Given the description of an element on the screen output the (x, y) to click on. 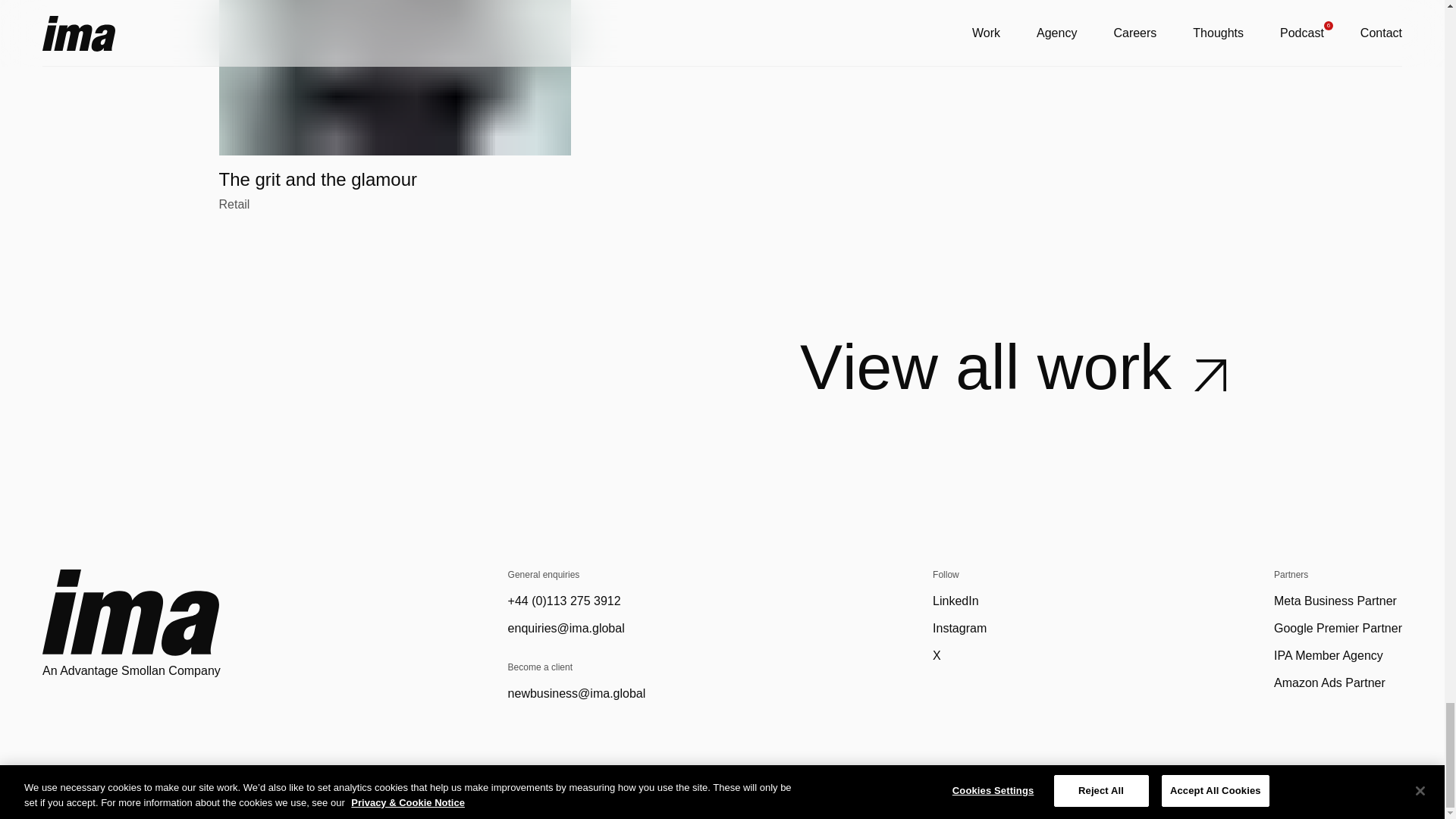
Instagram (960, 627)
IMA (130, 612)
Modern Slavery Act (1021, 784)
Google Premier Partner (1338, 627)
Privacy and Cookie Notice (1012, 366)
Gender Pay Gap Response (1163, 784)
IPA Member Agency (1327, 784)
Meta Business Partner (1328, 655)
Amazon Ads Partner (1335, 600)
LinkedIn (1330, 682)
